Given the description of an element on the screen output the (x, y) to click on. 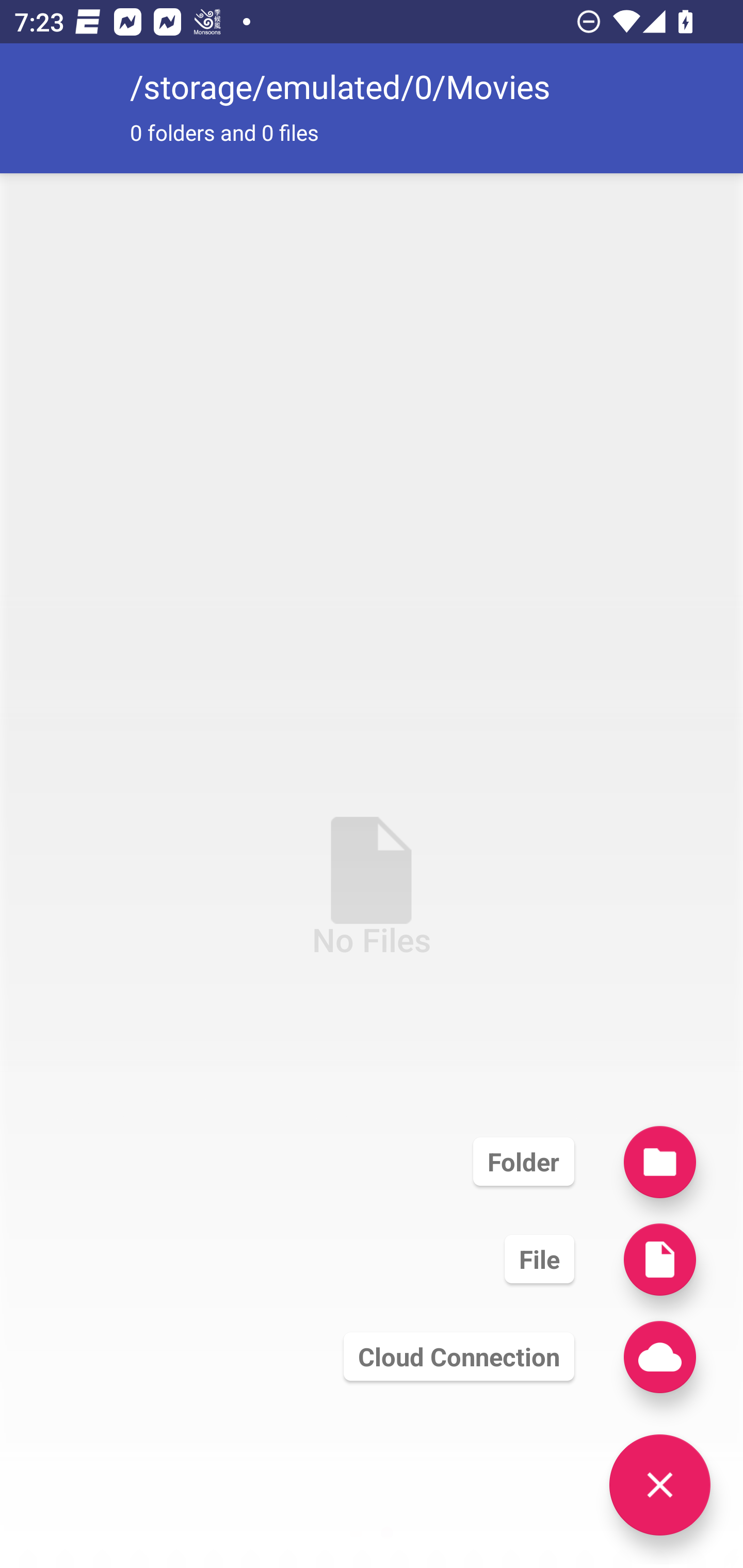
Folder (523, 1160)
File (539, 1258)
Cloud Connection (458, 1356)
